Given the description of an element on the screen output the (x, y) to click on. 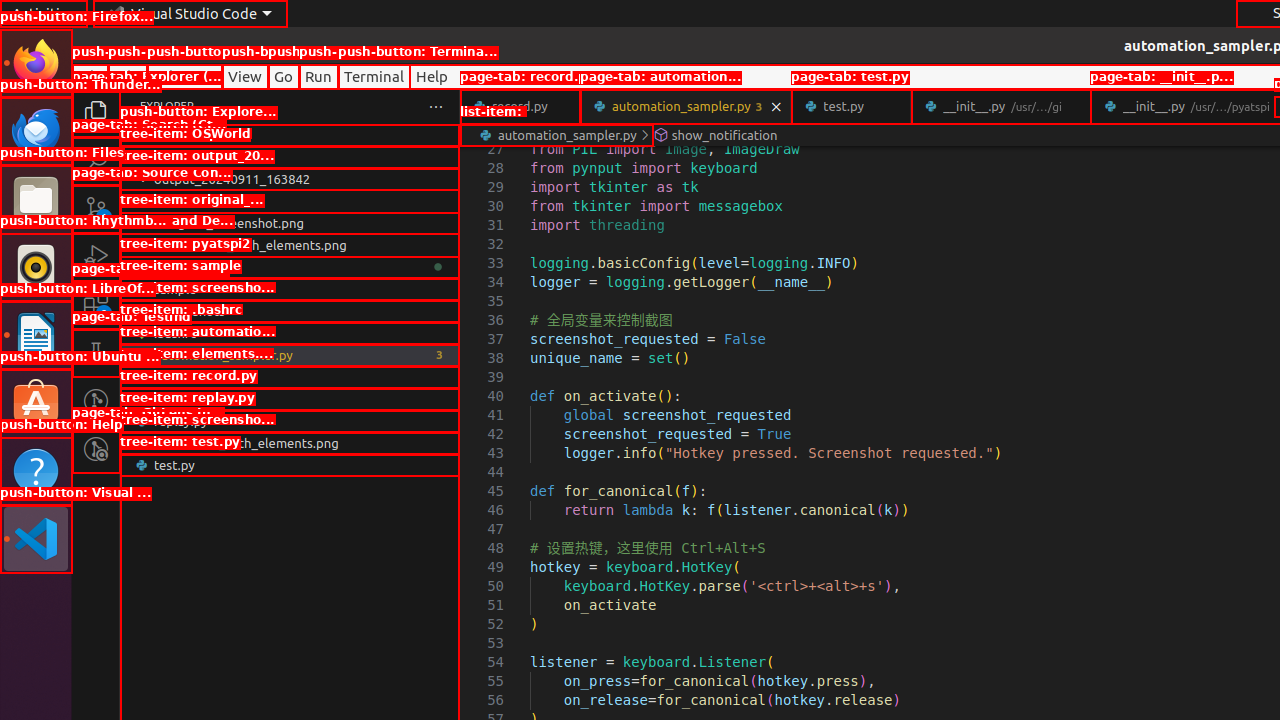
screenshot_with_elements.png Element type: tree-item (289, 443)
test.py Element type: tree-item (289, 465)
Source Control (Ctrl+Shift+G G) - 1 pending changes Element type: page-tab (96, 208)
.bashrc Element type: tree-item (289, 333)
